Given the description of an element on the screen output the (x, y) to click on. 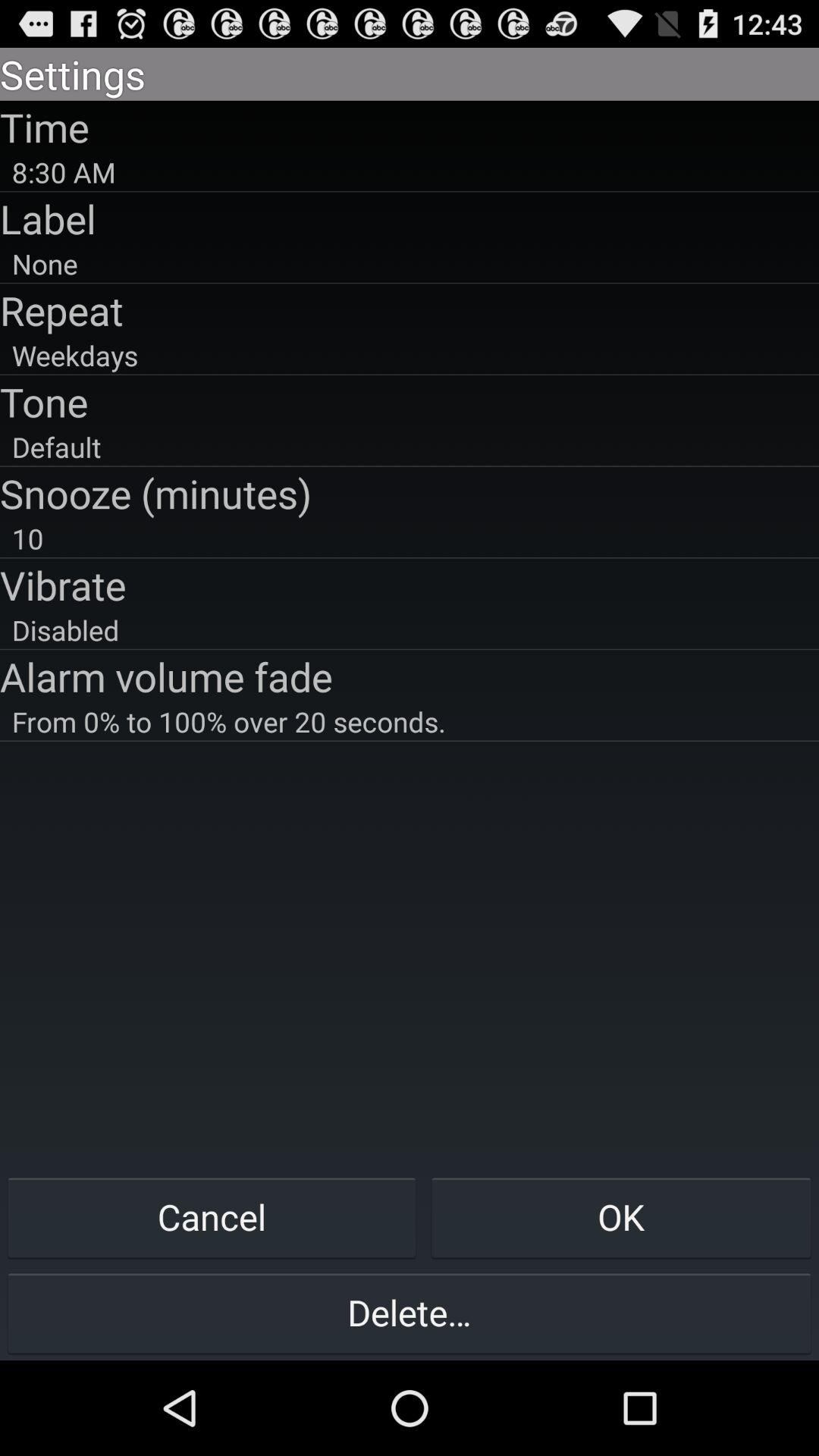
select the app below 10 item (409, 584)
